Given the description of an element on the screen output the (x, y) to click on. 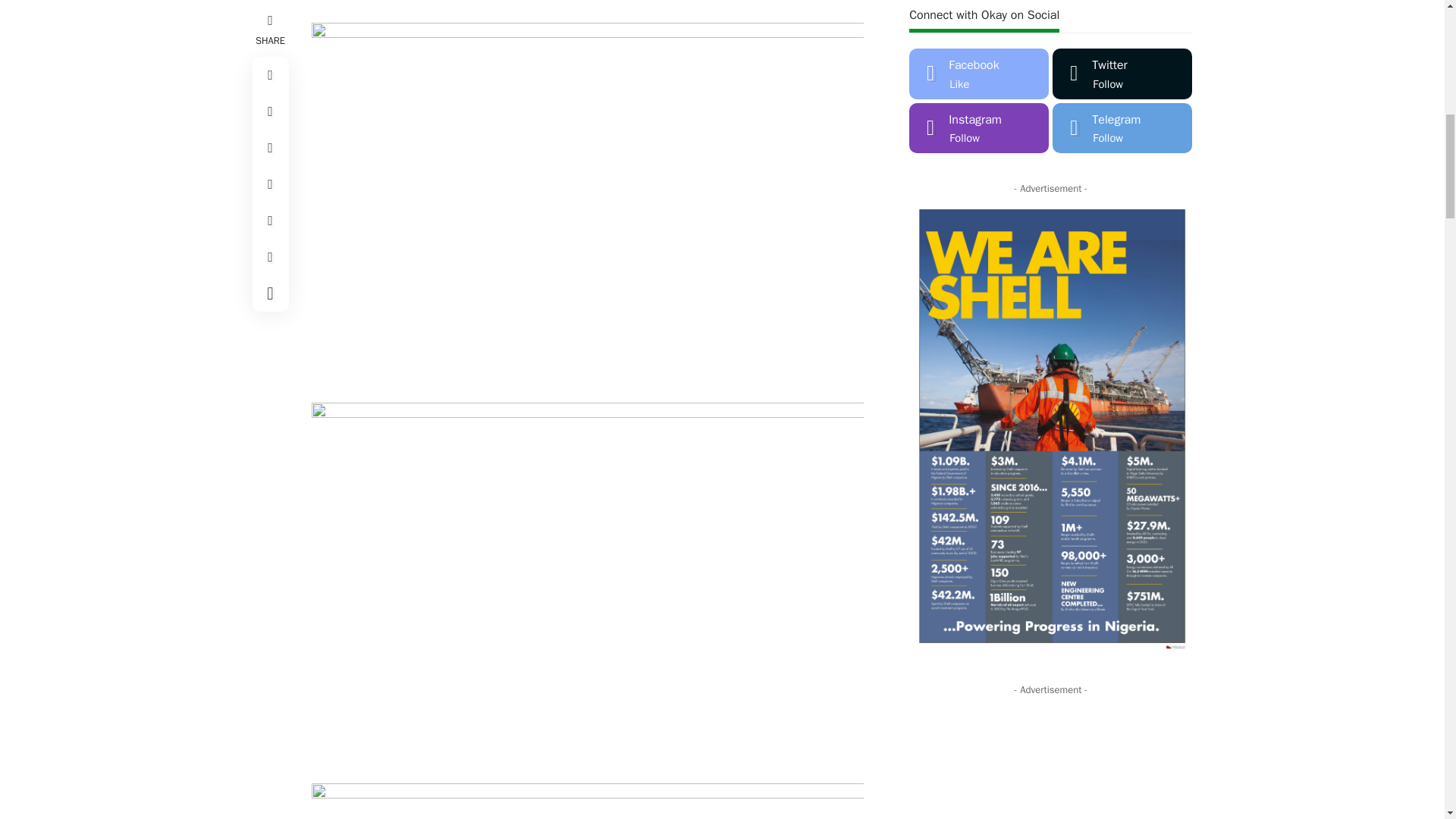
Tinubu Swears in New Head of Service, Praises Outgoing Esan (946, 680)
